Given the description of an element on the screen output the (x, y) to click on. 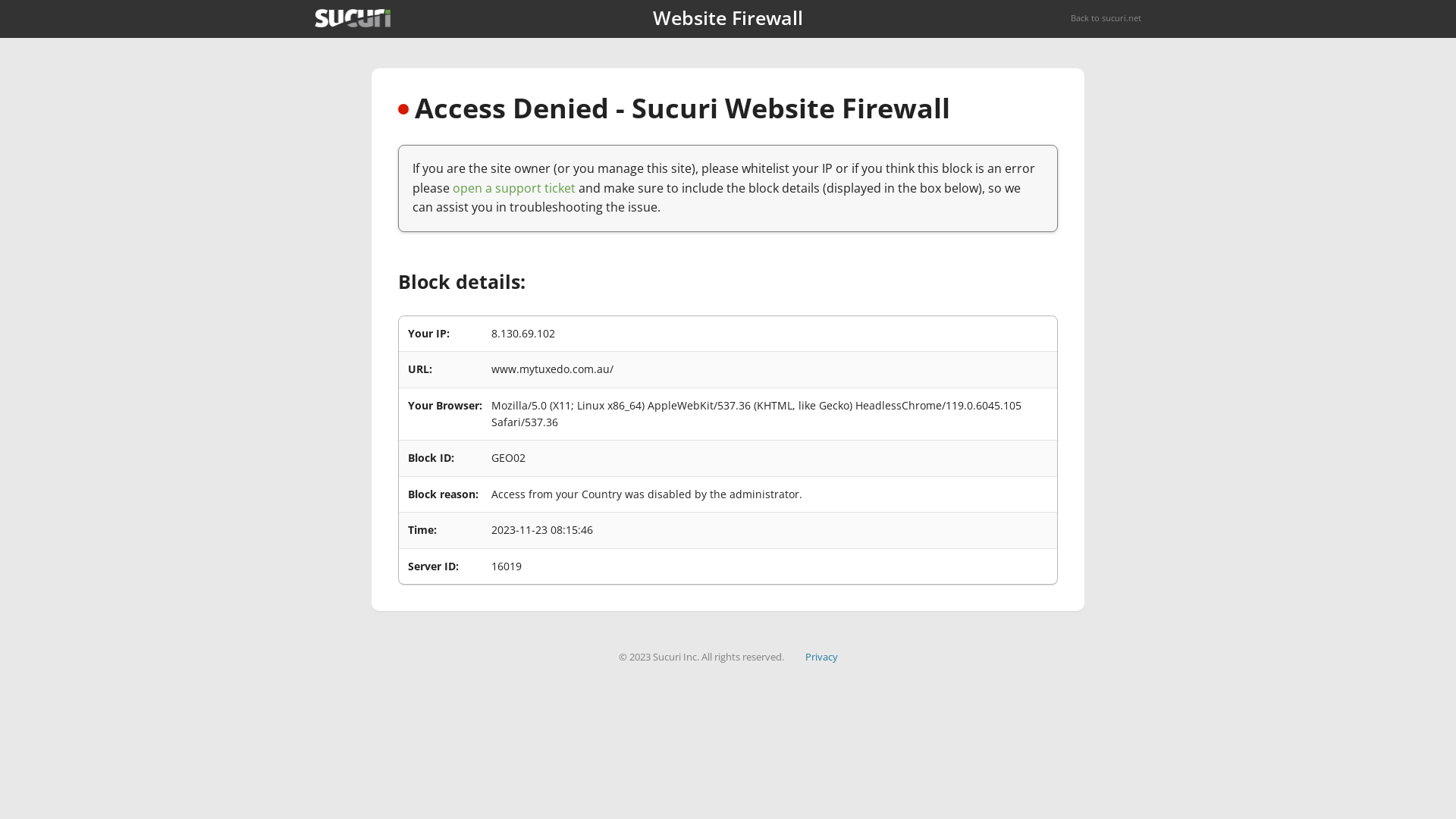
Privacy Element type: text (821, 656)
open a support ticket Element type: text (513, 187)
Back to sucuri.net Element type: text (1105, 18)
